Given the description of an element on the screen output the (x, y) to click on. 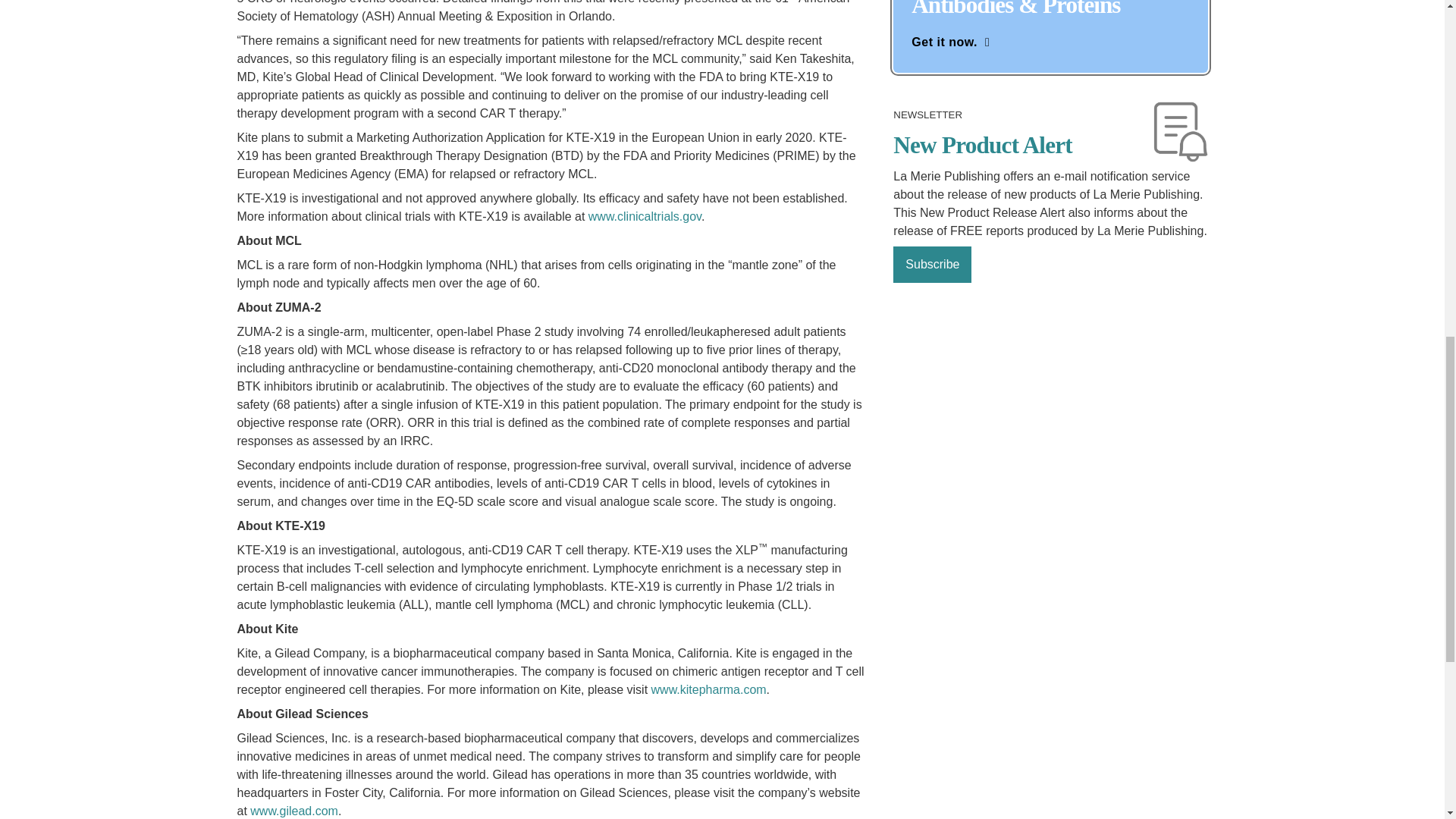
www.clinicaltrials.gov (644, 215)
www.kitepharma.com (708, 689)
